Given the description of an element on the screen output the (x, y) to click on. 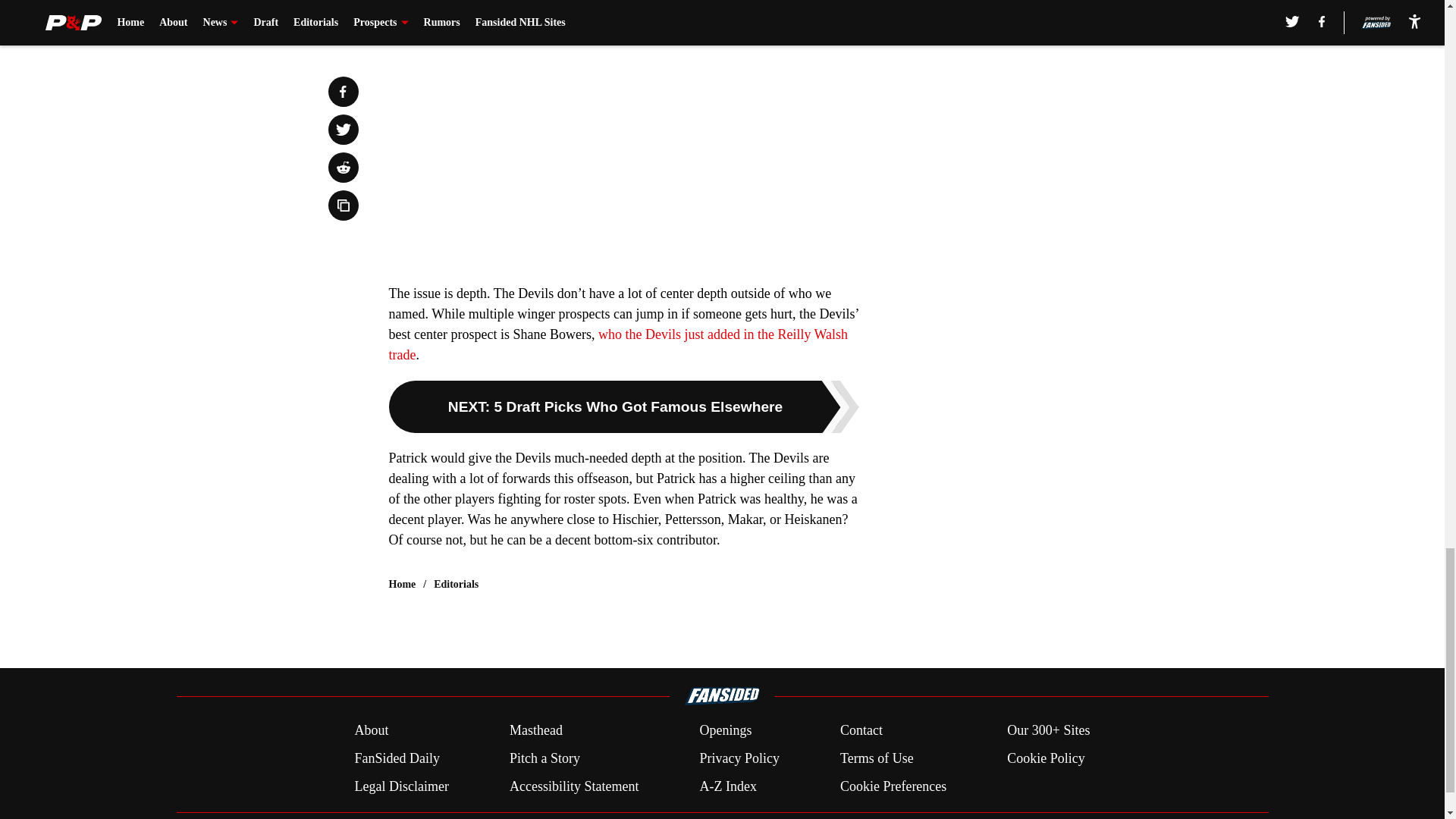
who the Devils just added in the Reilly Walsh trade (617, 344)
About (370, 730)
Pitch a Story (544, 758)
NEXT: 5 Draft Picks Who Got Famous Elsewhere (623, 406)
Masthead (535, 730)
Contact (861, 730)
Editorials (456, 584)
Home (401, 584)
FanSided Daily (396, 758)
Privacy Policy (738, 758)
Openings (724, 730)
Terms of Use (877, 758)
